Given the description of an element on the screen output the (x, y) to click on. 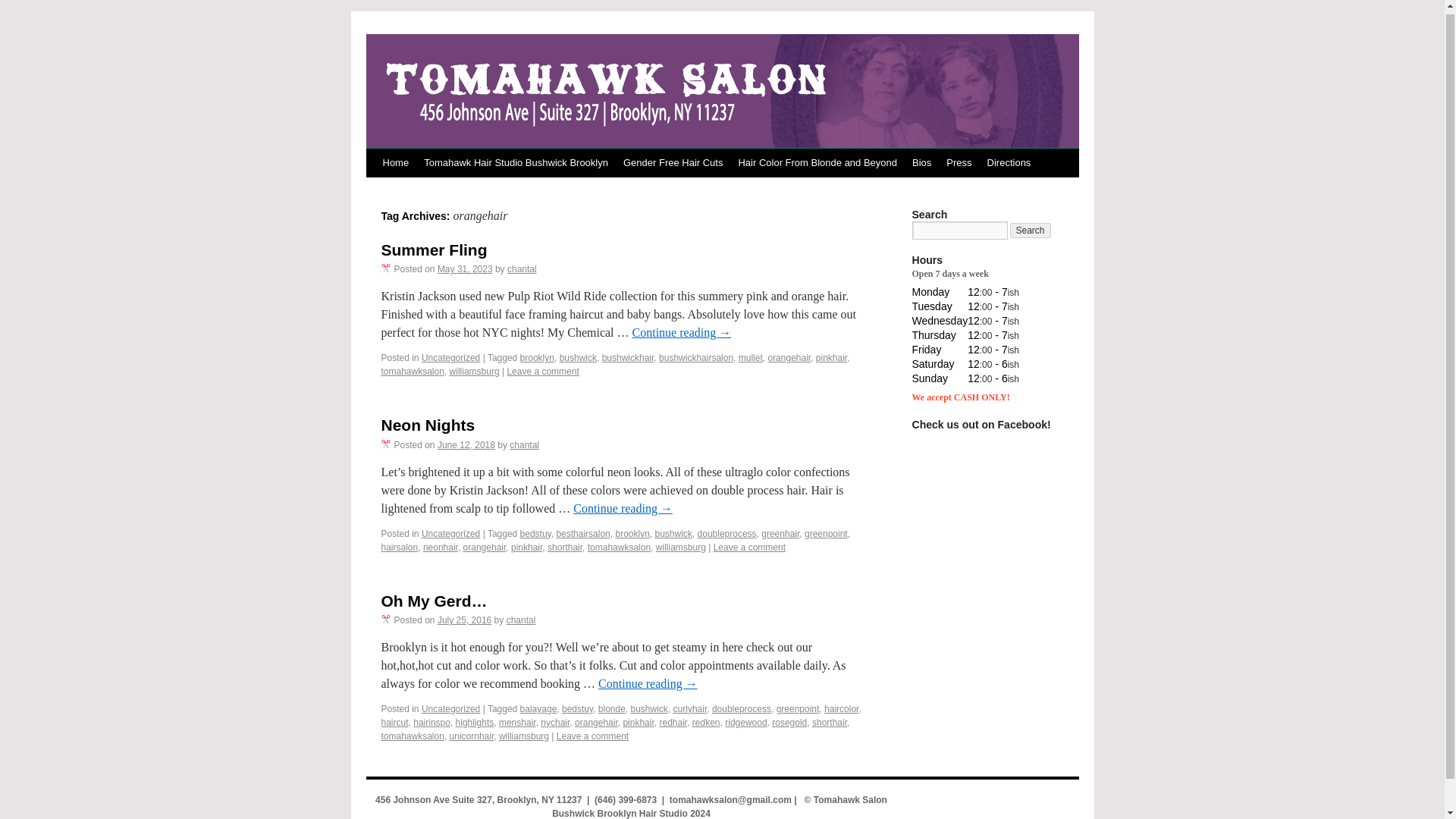
View all posts by chantal (521, 268)
chantal (523, 444)
besthairsalon (583, 533)
7:48 pm (465, 620)
3:14 pm (466, 444)
bushwickhair (627, 357)
Permalink to Neon Nights (427, 425)
bushwick (674, 533)
May 31, 2023 (465, 268)
hairsalon (398, 547)
doubleprocess (727, 533)
pinkhair (526, 547)
williamsburg (474, 371)
Hair Color From Blonde and Beyond (817, 162)
bushwick (577, 357)
